Given the description of an element on the screen output the (x, y) to click on. 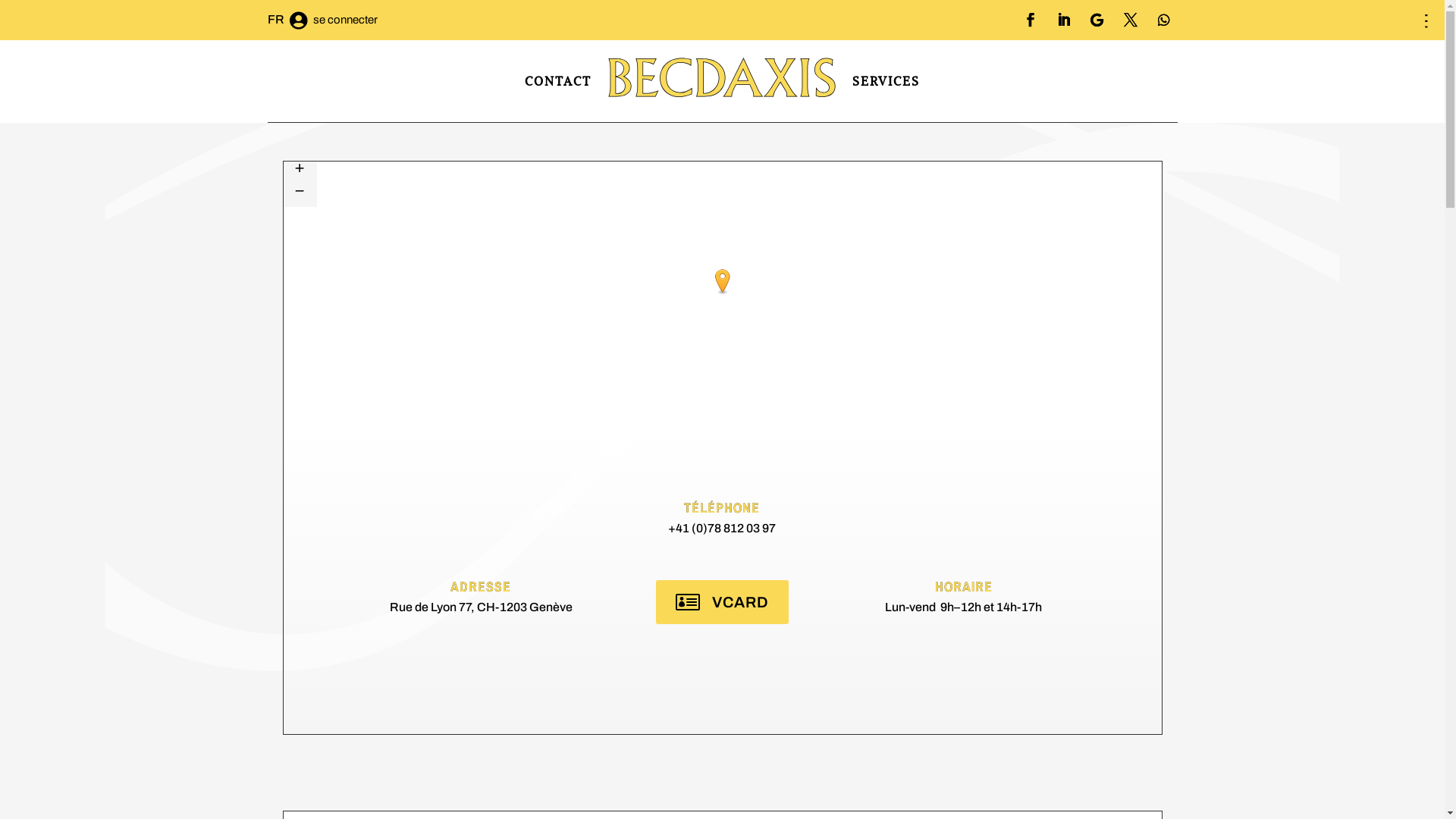
SERVICES Element type: text (885, 80)
Suivez sur Google Element type: hover (1096, 19)
Suivez sur LinkedIn Element type: hover (1062, 19)
Suivez sur Facebook Element type: hover (1029, 19)
Suivez sur Whatsapp Element type: hover (1162, 19)
FR Element type: text (285, 23)
CONTACT Element type: text (557, 80)
Suivez sur X Element type: hover (1129, 19)
+41 (0)78 812 03 97 Element type: text (721, 531)
VCARD Element type: text (721, 602)
+ Element type: text (305, 172)
